Given the description of an element on the screen output the (x, y) to click on. 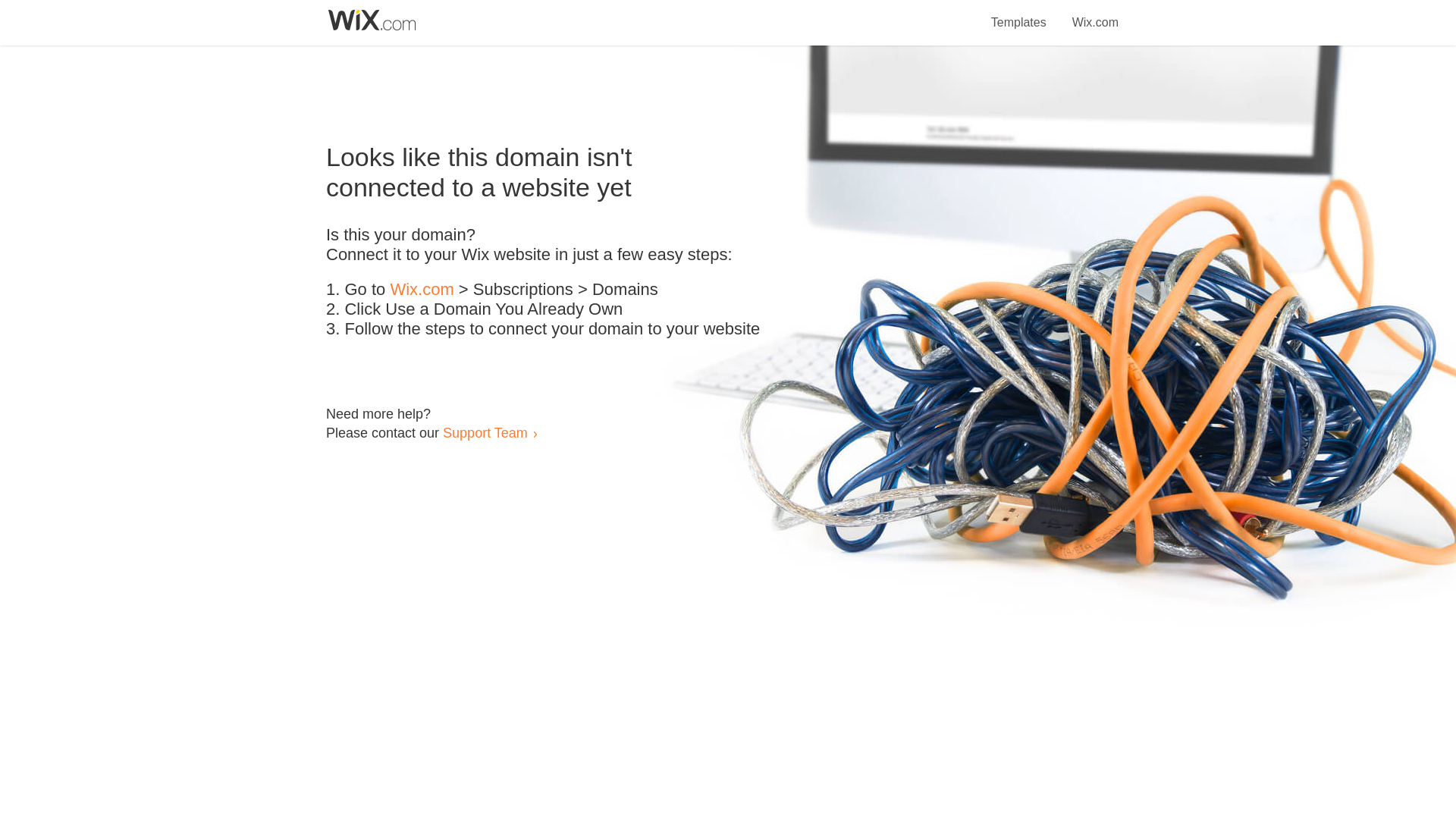
Wix.com (421, 289)
Support Team (484, 432)
Wix.com (1095, 14)
Templates (1018, 14)
